Given the description of an element on the screen output the (x, y) to click on. 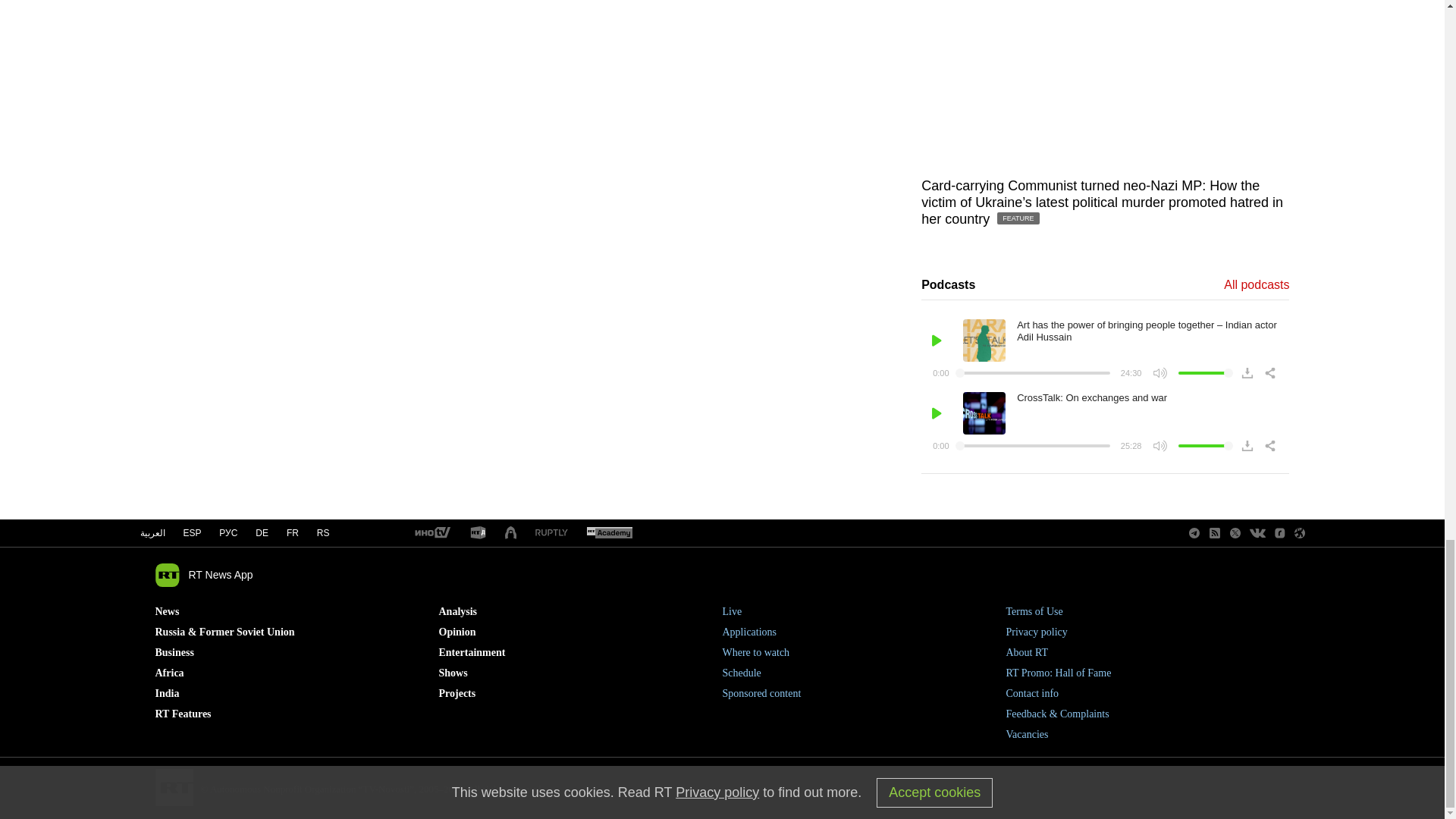
RT  (608, 533)
RT  (431, 533)
RT  (551, 533)
RT  (478, 533)
